Given the description of an element on the screen output the (x, y) to click on. 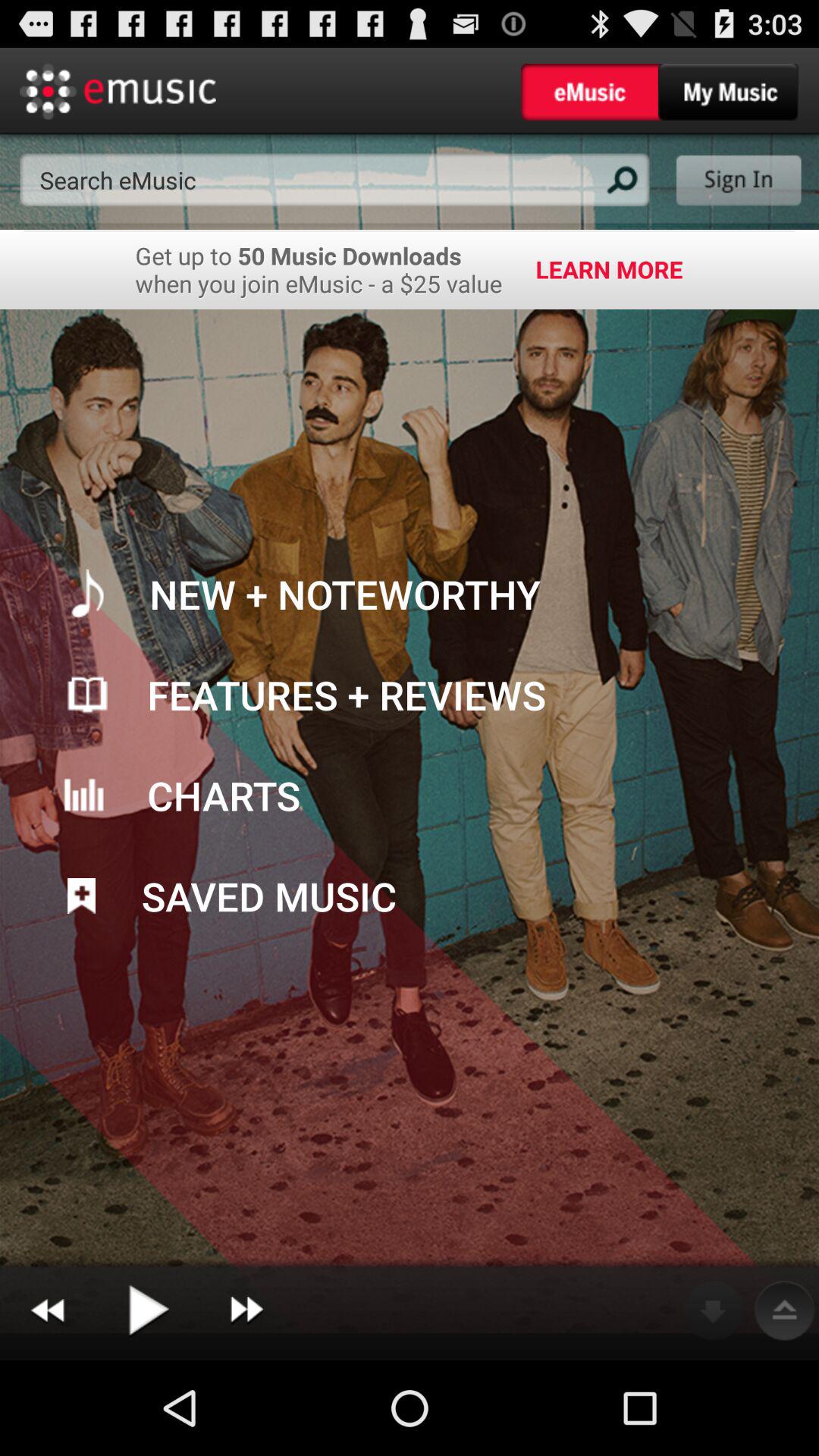
click on search icon (619, 179)
option above charts option (409, 694)
select the search engine emusic (334, 180)
go to the option beside pause or resume button (246, 1310)
click on the button next to the download button (784, 1310)
